Given the description of an element on the screen output the (x, y) to click on. 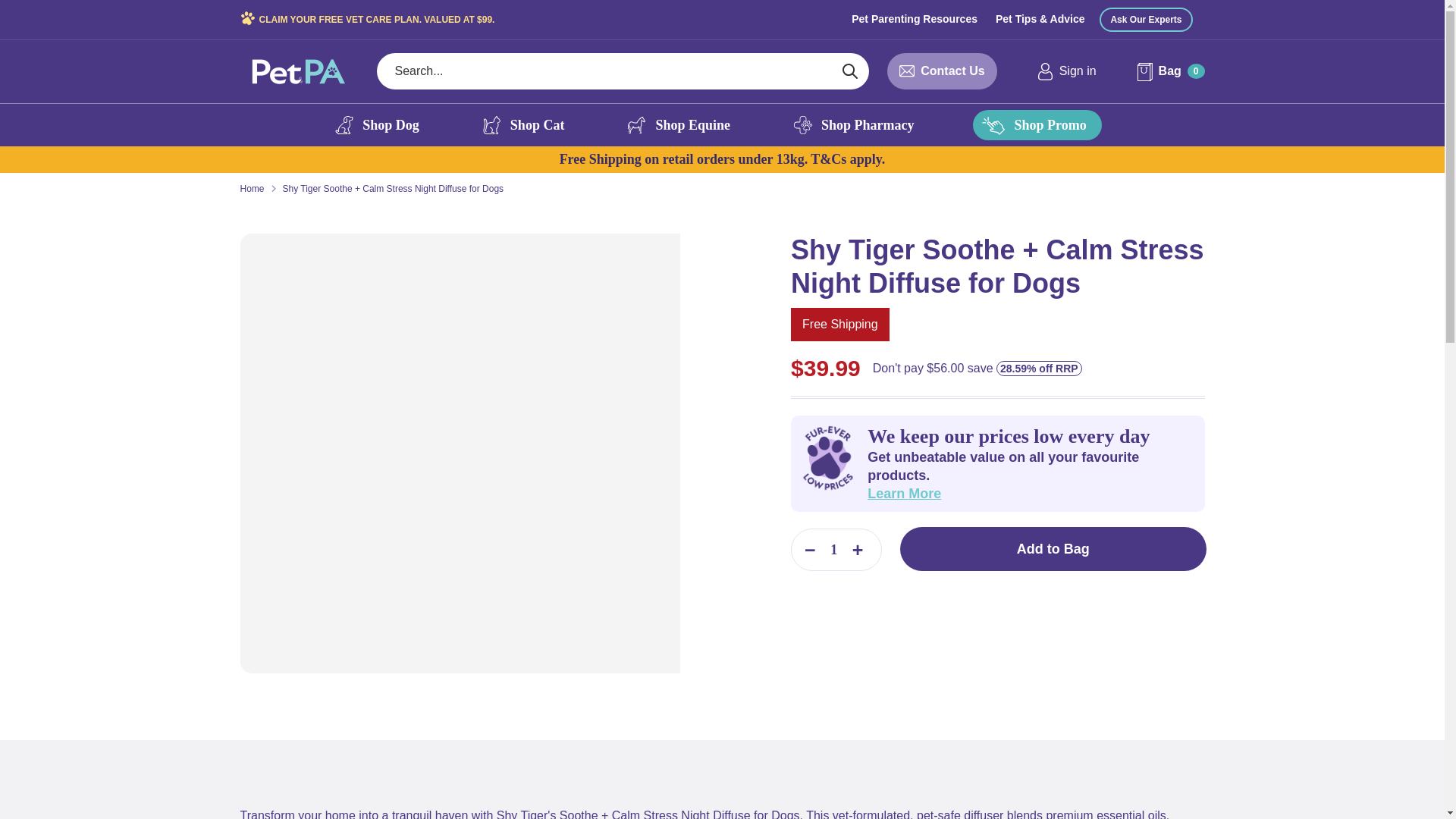
Ask Our Experts (1145, 19)
Contact Us (952, 71)
Pet Parenting Resources (915, 18)
Sign in (1067, 71)
